Given the description of an element on the screen output the (x, y) to click on. 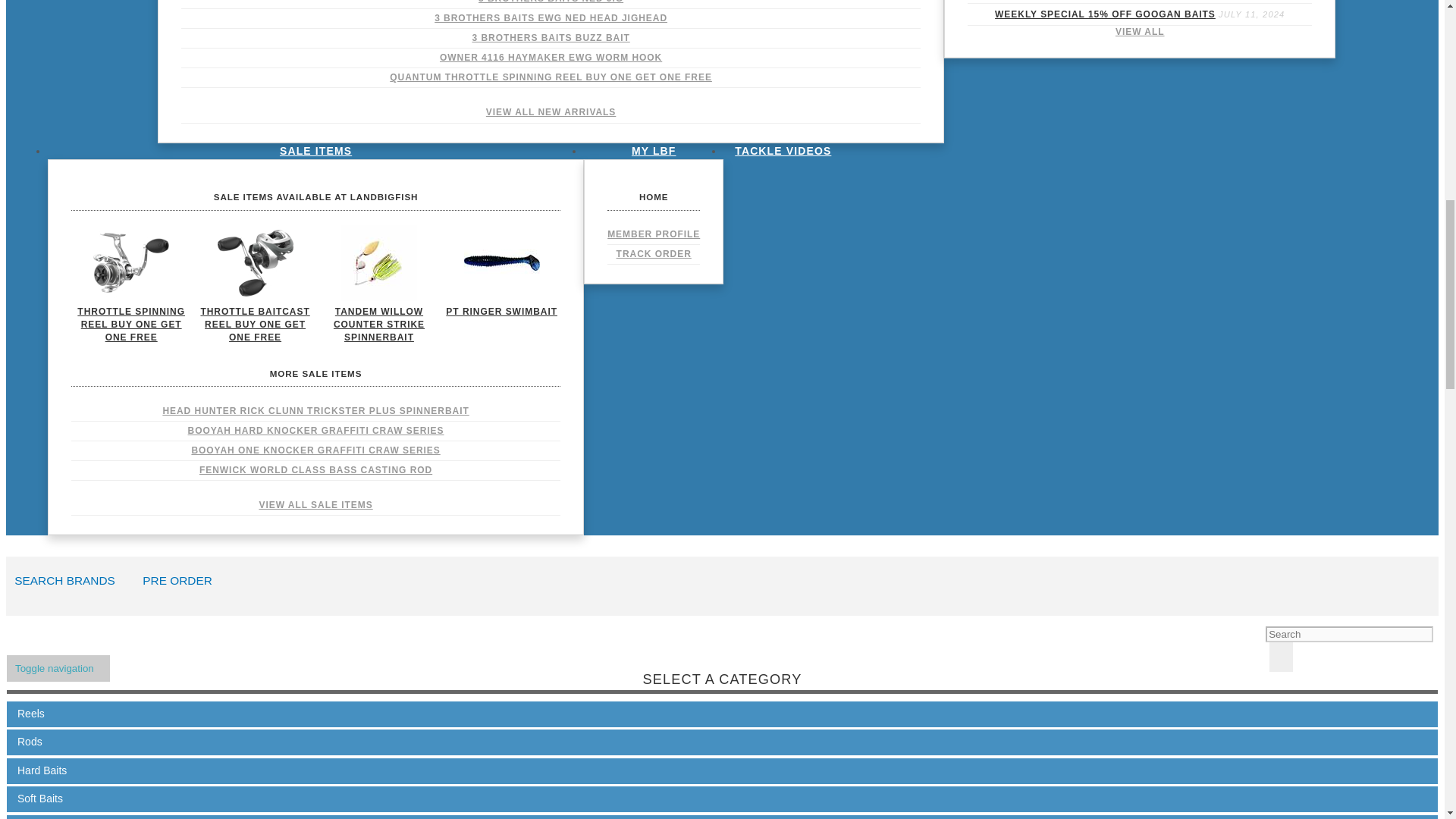
Search Brands (180, 585)
Search Brands (68, 585)
3 BROTHERS BAITS EWG NED HEAD JIGHEAD (550, 18)
QUANTUM THROTTLE SPINNING REEL BUY ONE GET ONE FREE (550, 77)
VIEW ALL NEW ARRIVALS (550, 112)
3 BROTHERS BAITS BUZZ BAIT (550, 38)
OWNER 4116 HAYMAKER EWG WORM HOOK (550, 57)
